Given the description of an element on the screen output the (x, y) to click on. 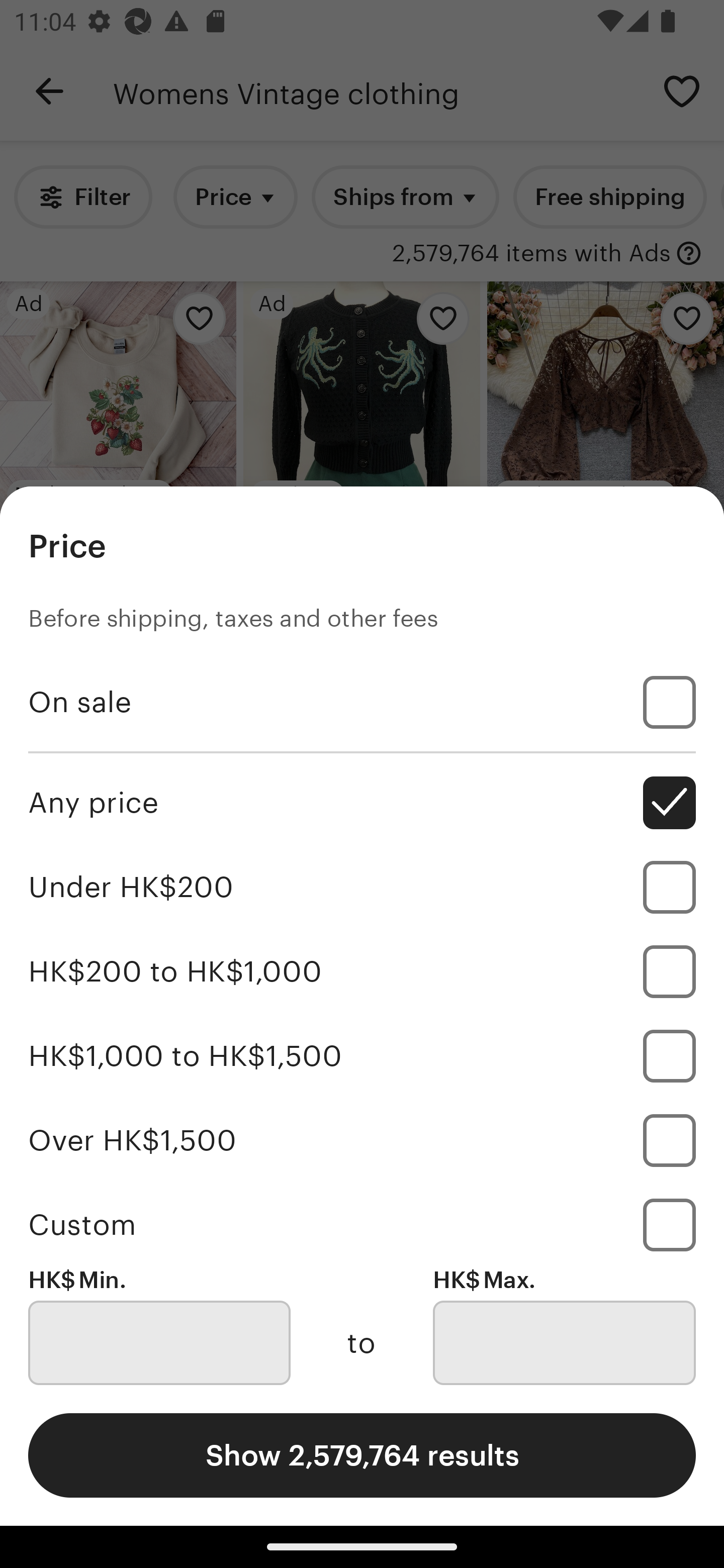
On sale (362, 702)
Any price (362, 802)
Under HK$200 (362, 887)
HK$200 to HK$1,000 (362, 970)
HK$1,000 to HK$1,500 (362, 1054)
Over HK$1,500 (362, 1139)
Custom (362, 1224)
Show 2,579,764 results (361, 1454)
